Given the description of an element on the screen output the (x, y) to click on. 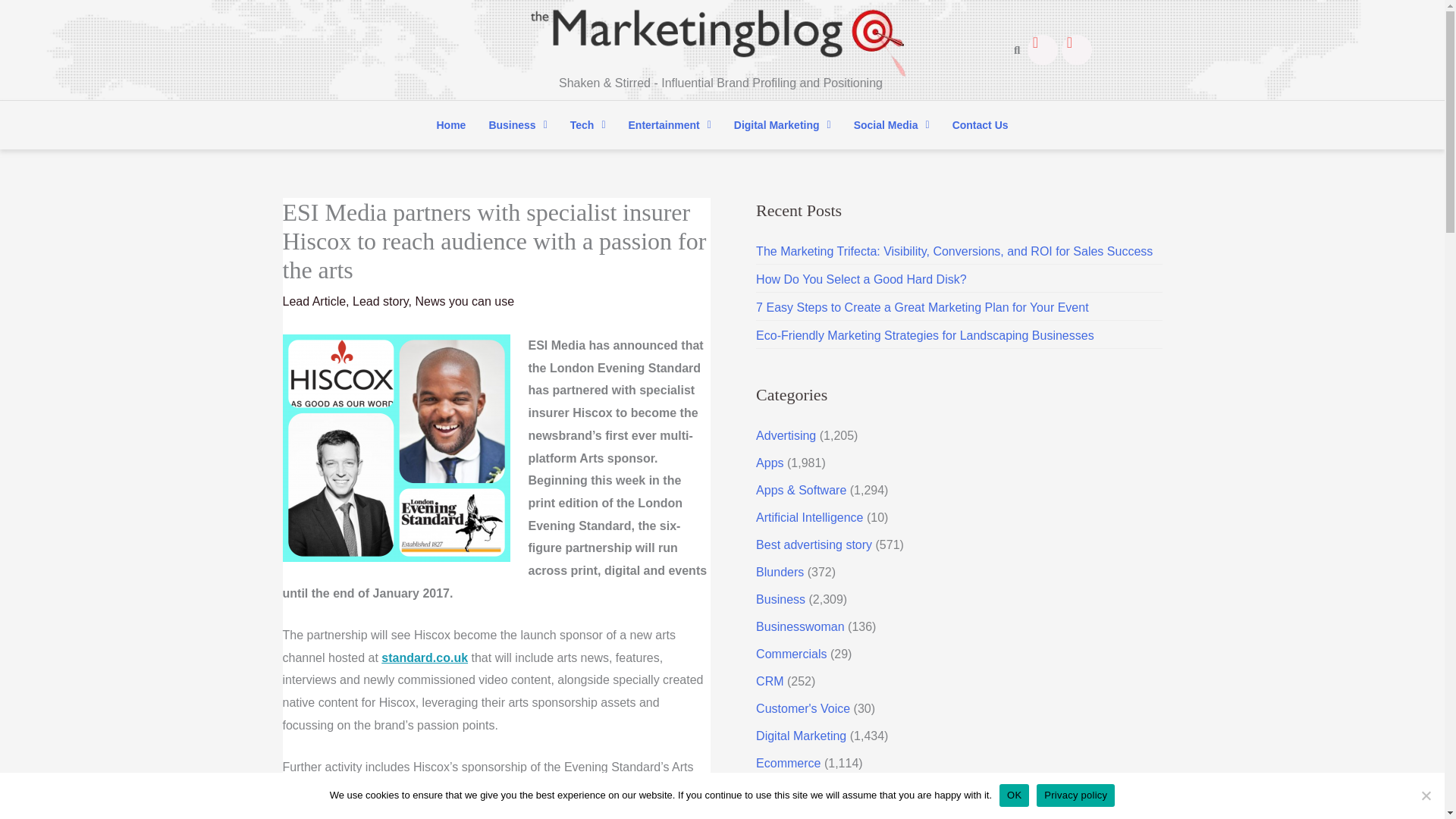
Search (1011, 49)
2016-27-5--11-14-58 (395, 447)
No (1425, 795)
